Given the description of an element on the screen output the (x, y) to click on. 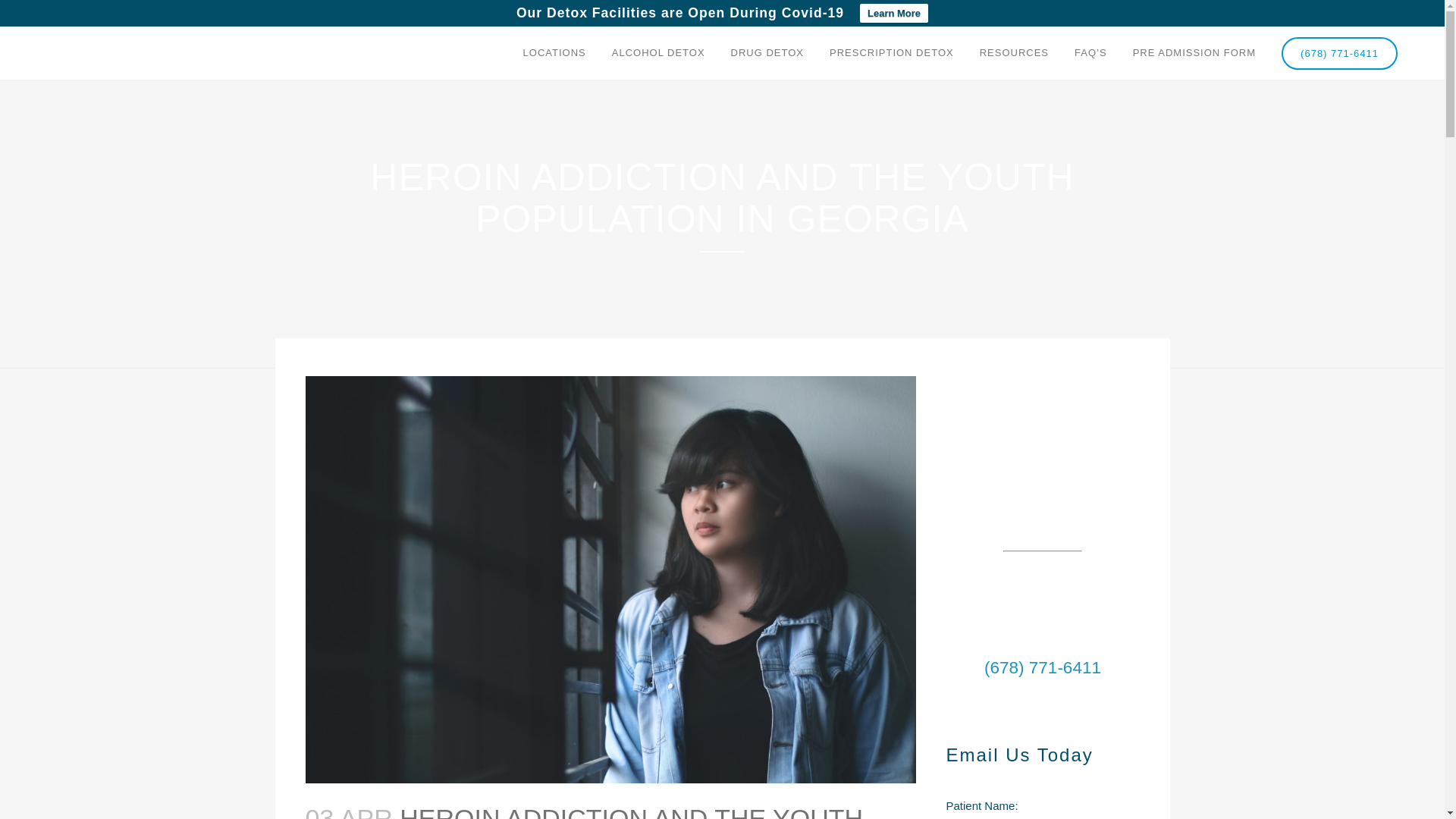
LOCATIONS (554, 52)
Learn More (894, 13)
ALCOHOL DETOX (657, 52)
DRUG DETOX (766, 52)
PRESCRIPTION DETOX (891, 52)
